Given the description of an element on the screen output the (x, y) to click on. 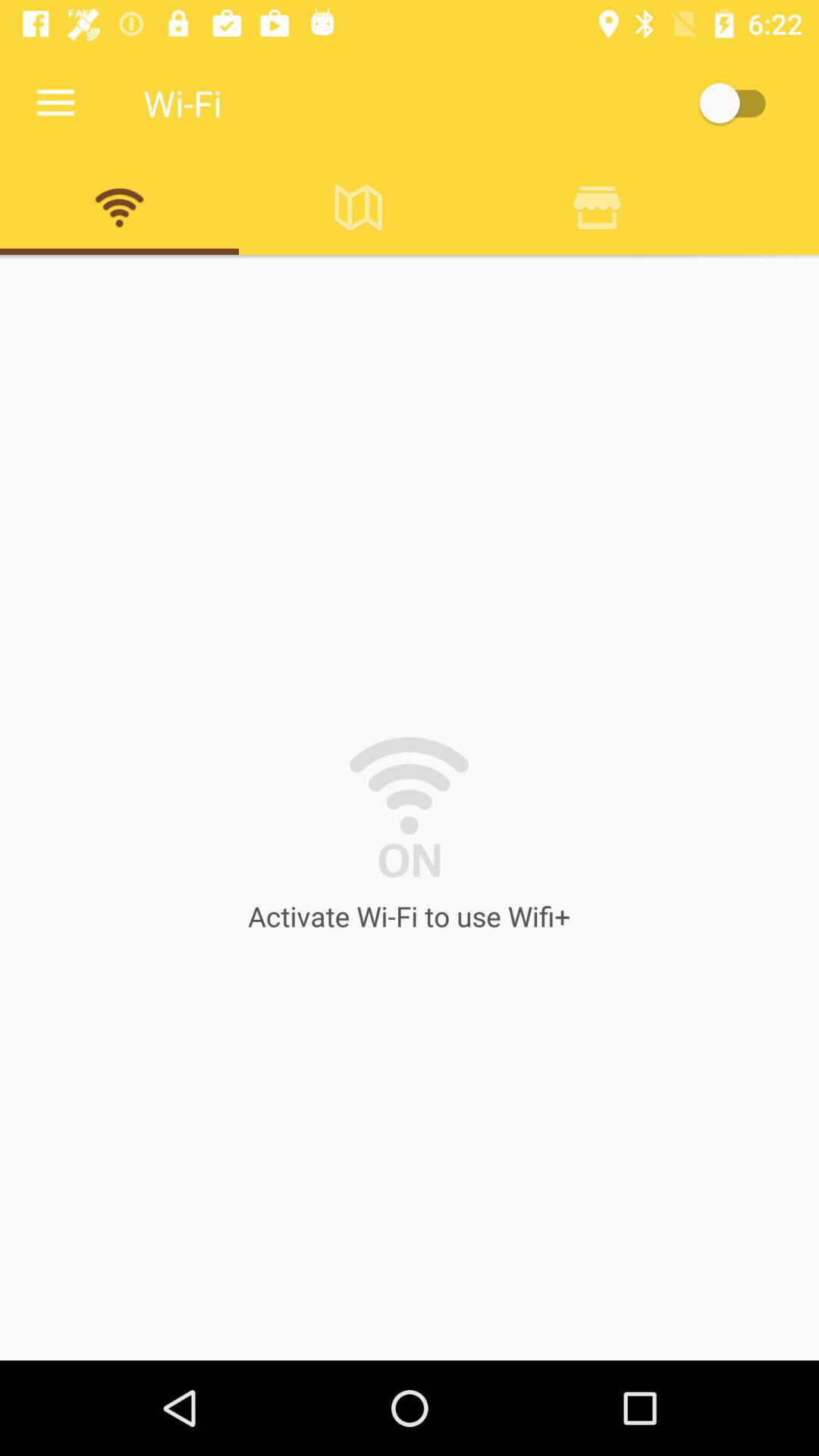
wifi option (119, 206)
